Given the description of an element on the screen output the (x, y) to click on. 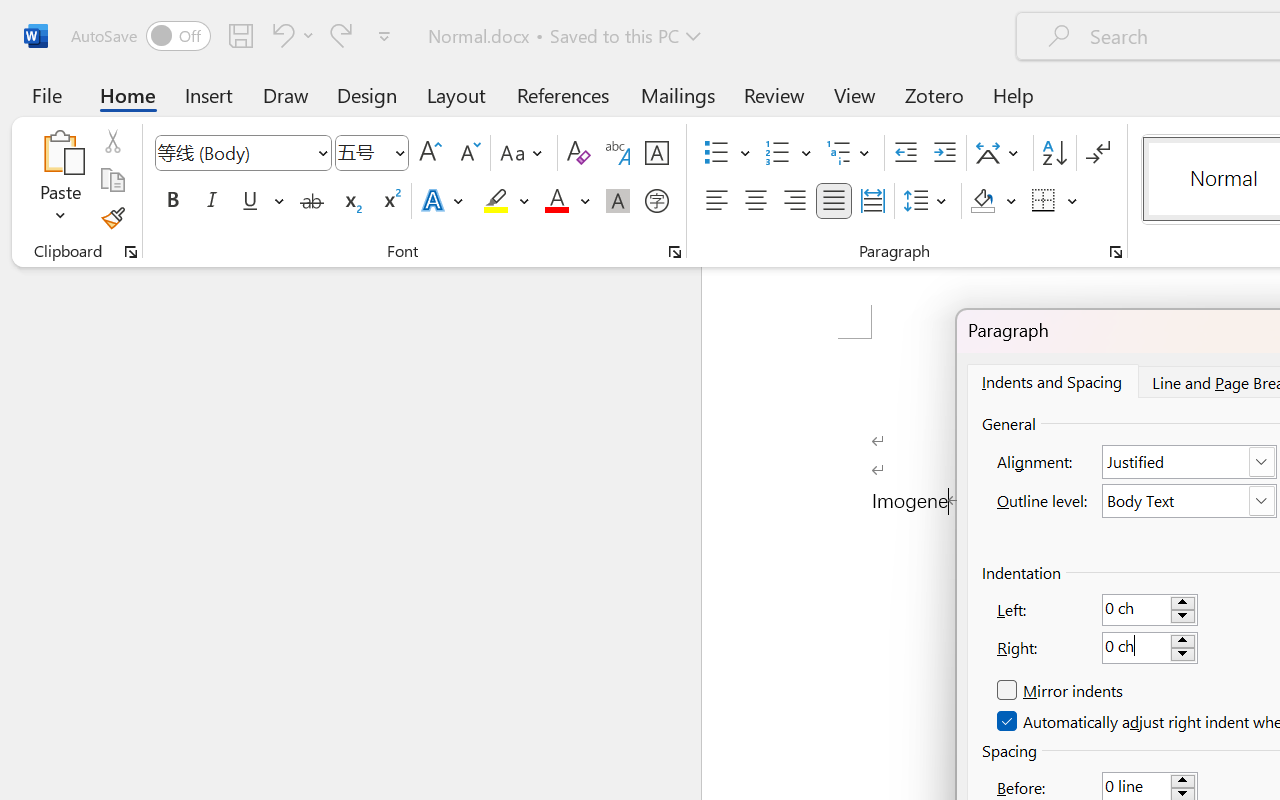
Office Clipboard... (131, 252)
Text Effects and Typography (444, 201)
Character Shading (618, 201)
Paragraph... (1115, 252)
Text Highlight Color Yellow (495, 201)
Right: (1150, 648)
Shrink Font (468, 153)
